Given the description of an element on the screen output the (x, y) to click on. 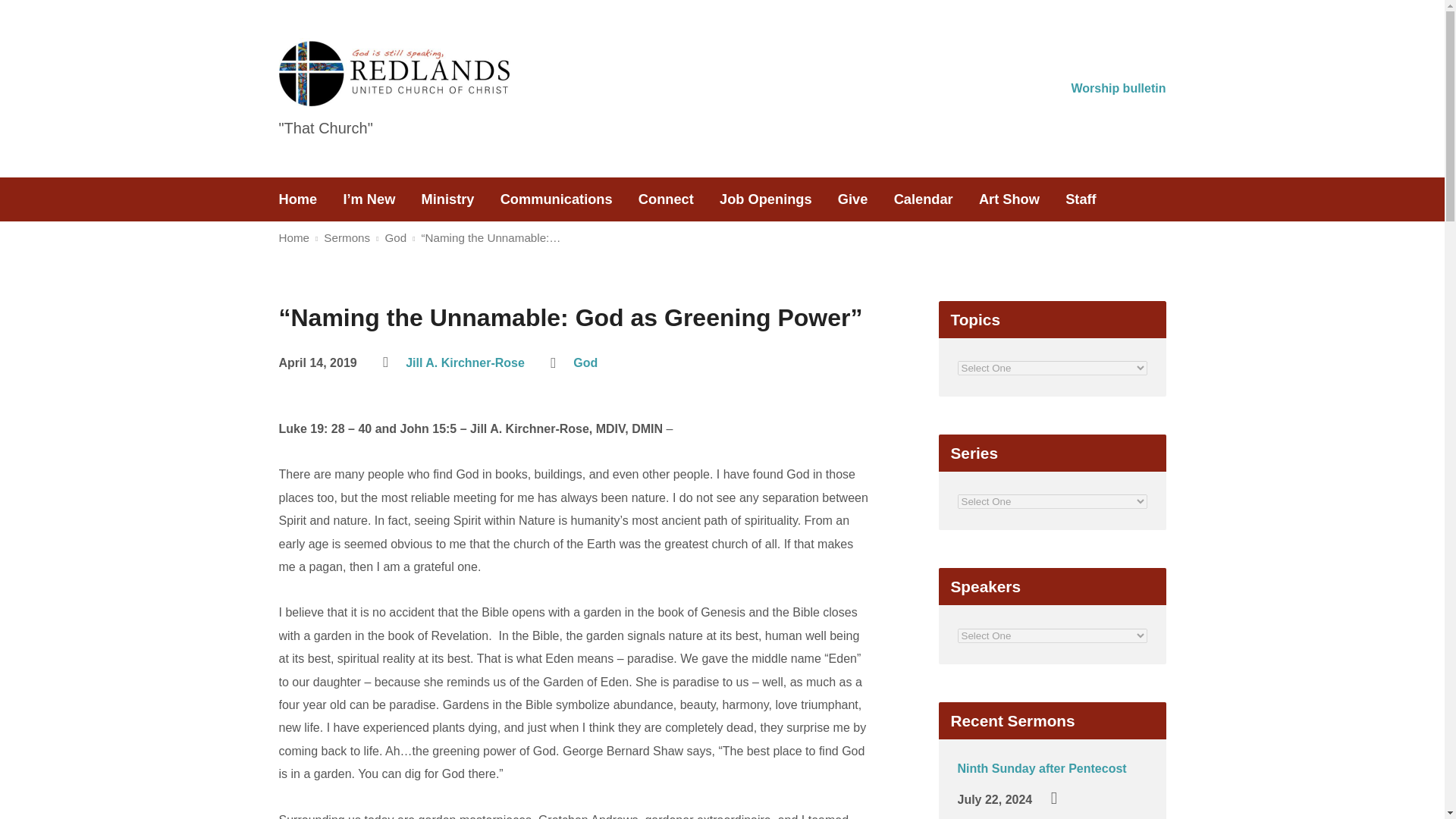
Ninth Sunday after Pentecost (1040, 768)
Connect (666, 199)
Job Openings (765, 199)
Home (298, 199)
Ministry (448, 199)
Worship bulletin (1118, 88)
Communications (556, 199)
